Given the description of an element on the screen output the (x, y) to click on. 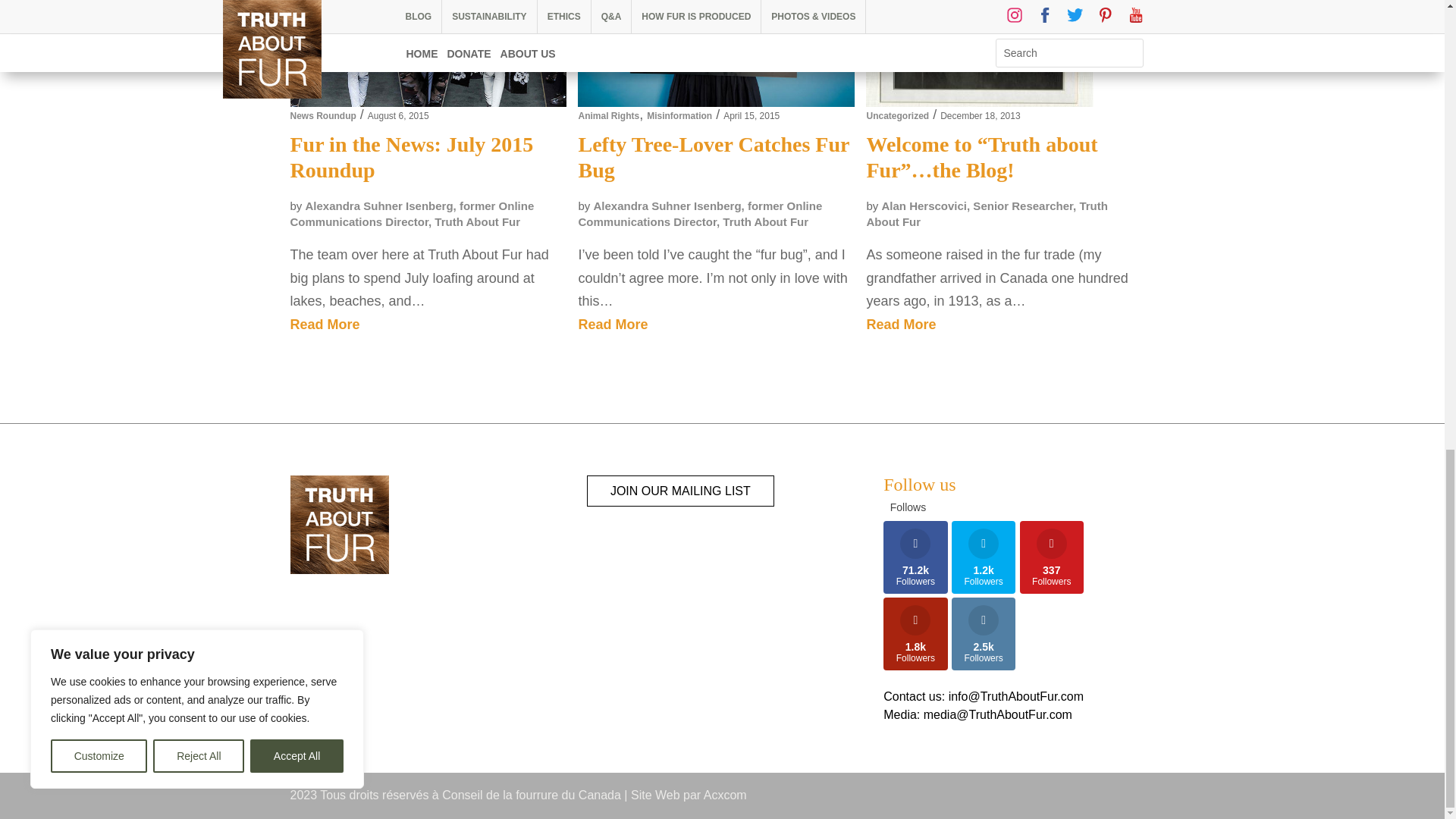
Fur in the News: July 2015 Roundup (427, 72)
Lefty Tree-Lover Catches Fur Bug (716, 66)
